Given the description of an element on the screen output the (x, y) to click on. 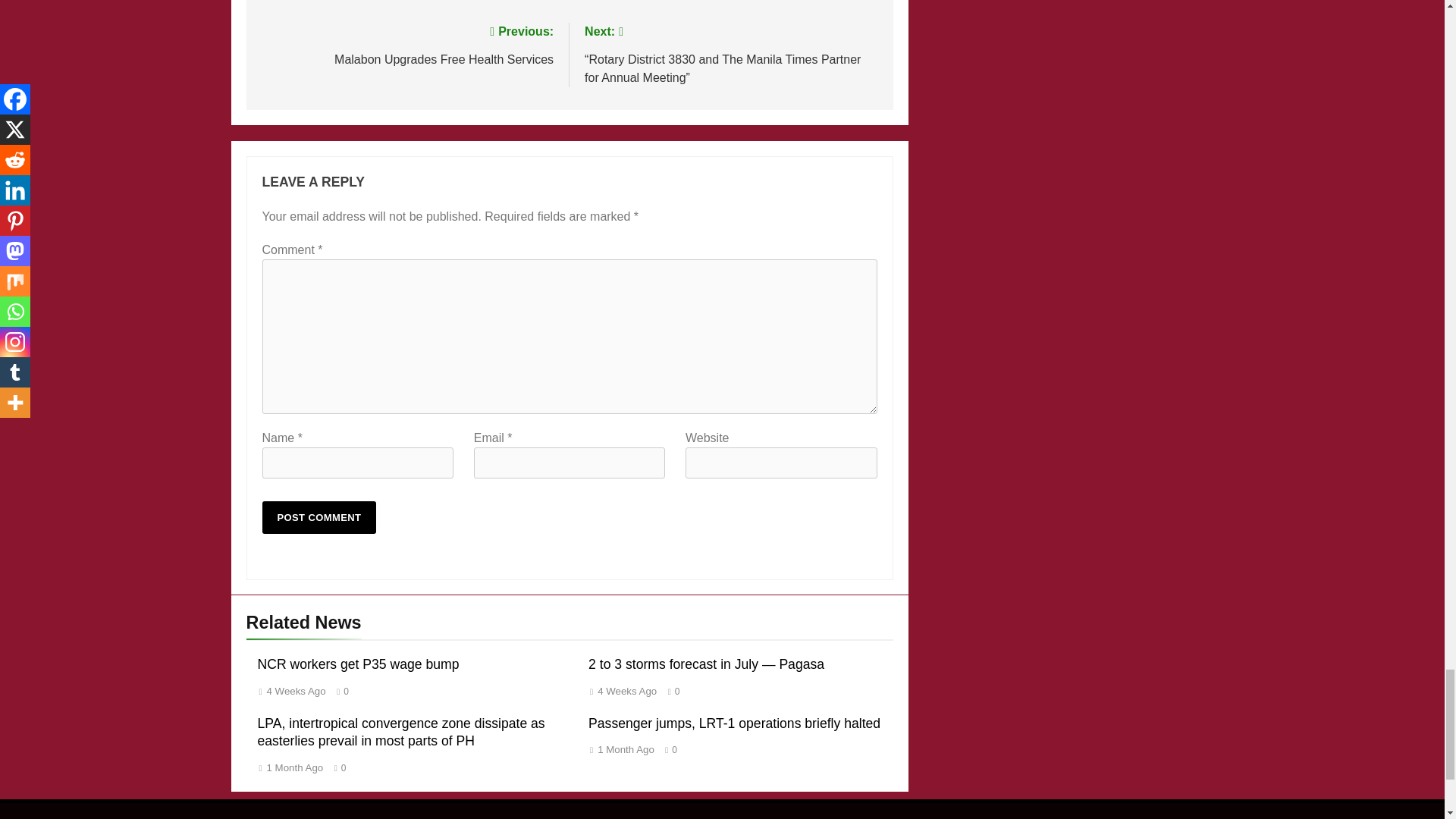
Post Comment (319, 517)
